Given the description of an element on the screen output the (x, y) to click on. 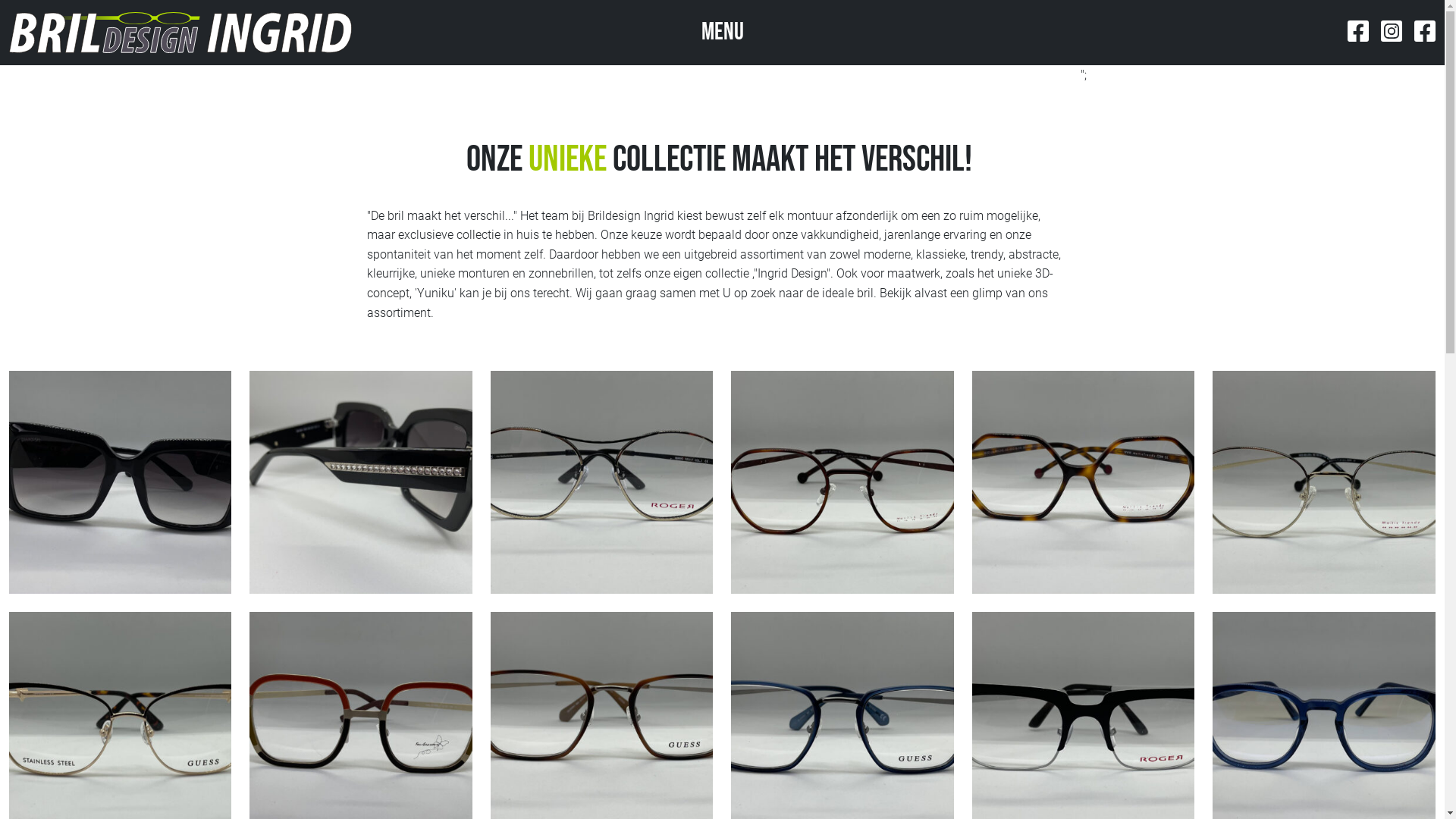
Menu Element type: text (721, 31)
